Given the description of an element on the screen output the (x, y) to click on. 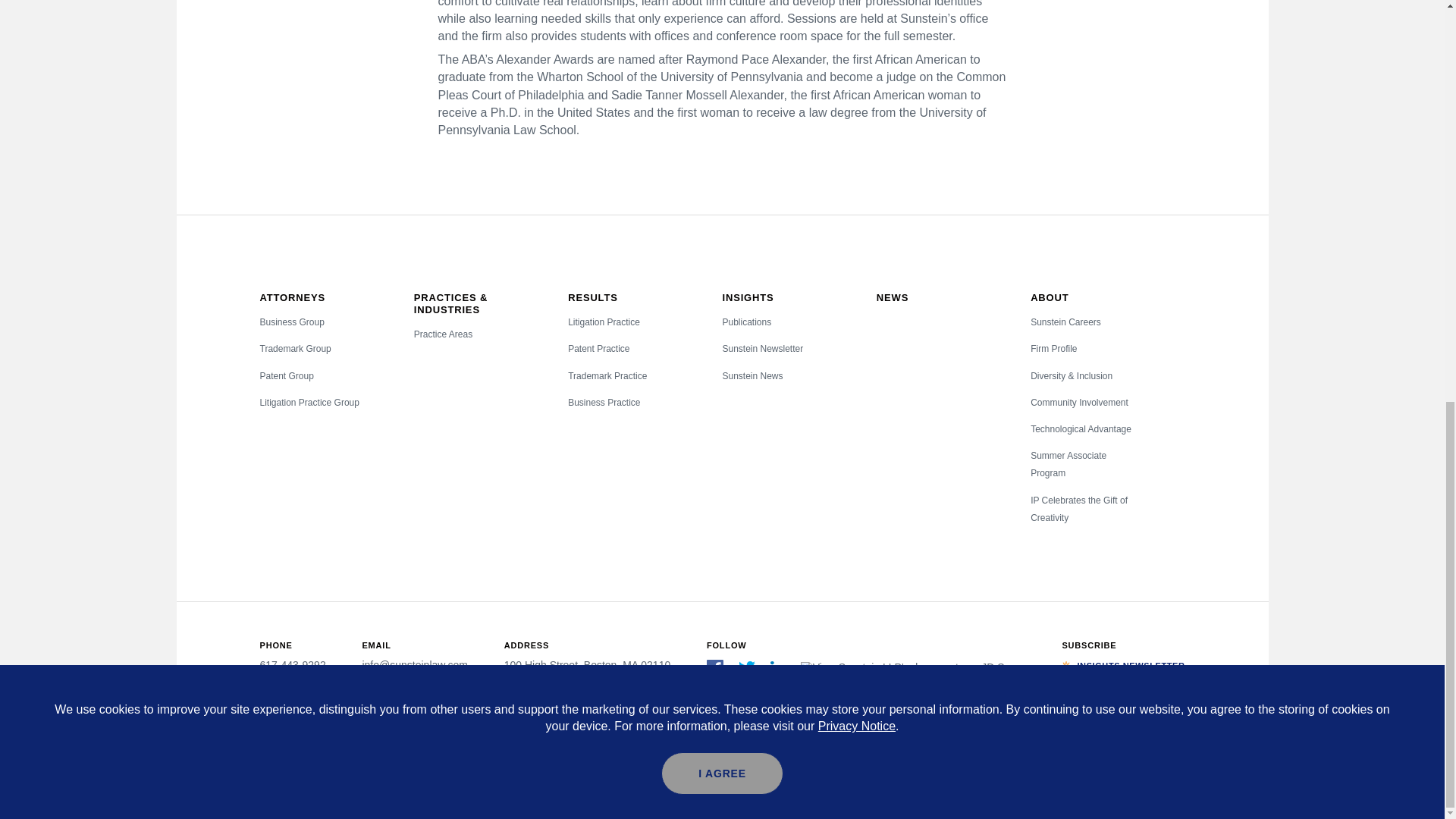
Business Group (291, 321)
Sunstein Newsletter (762, 348)
Publications (746, 321)
Litigation Practice (603, 321)
NEWS (892, 297)
Litigation Practice Group (308, 402)
Business Practice (603, 402)
Trademark Group (294, 348)
Patent Group (286, 376)
RESULTS (592, 297)
